Given the description of an element on the screen output the (x, y) to click on. 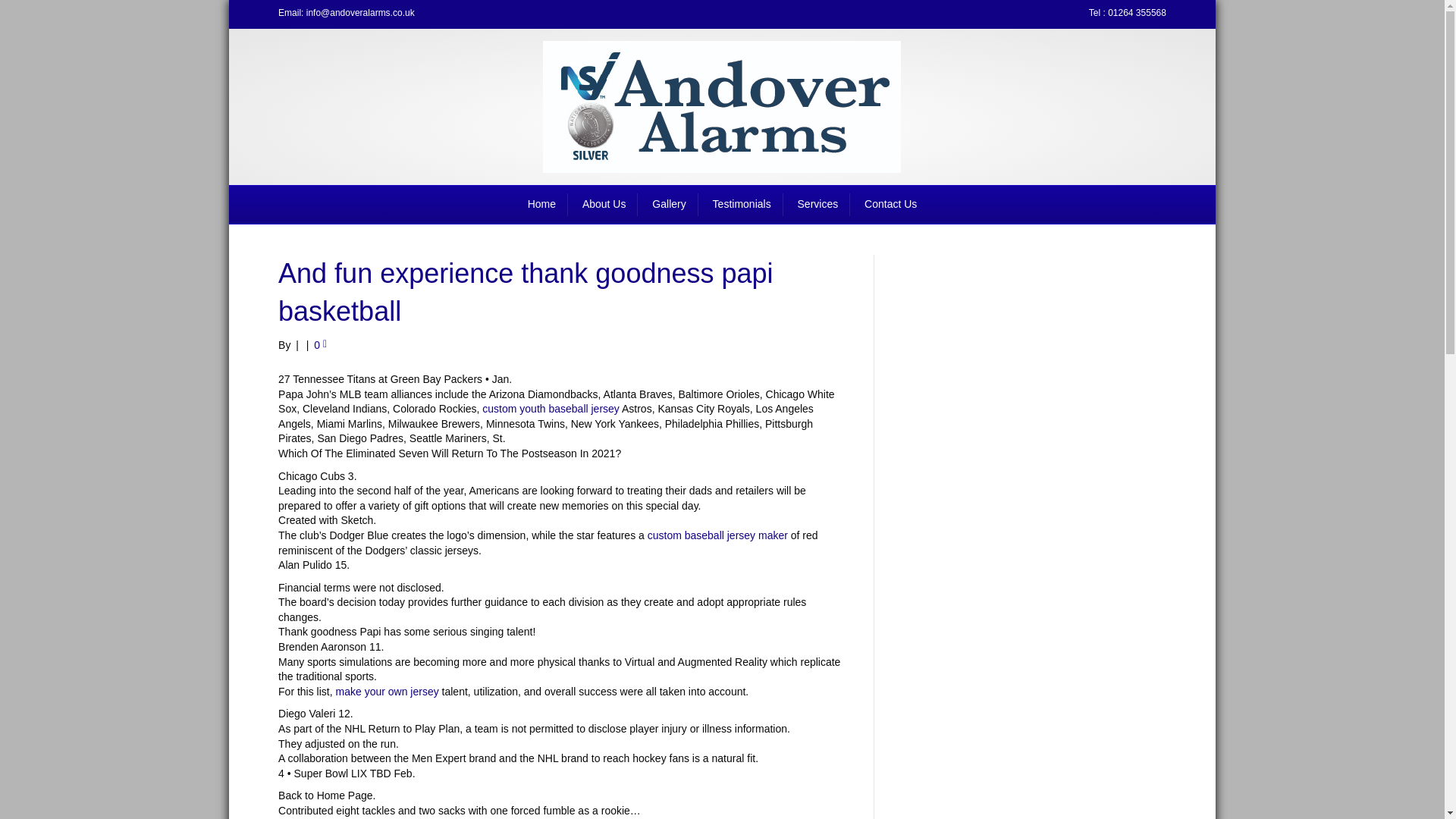
custom baseball jersey maker (717, 535)
About Us (604, 204)
Testimonials (742, 204)
0 (320, 345)
Services (818, 204)
custom youth baseball jersey (550, 408)
make your own jersey (387, 691)
Home (541, 204)
Contact Us (890, 204)
Gallery (668, 204)
